Given the description of an element on the screen output the (x, y) to click on. 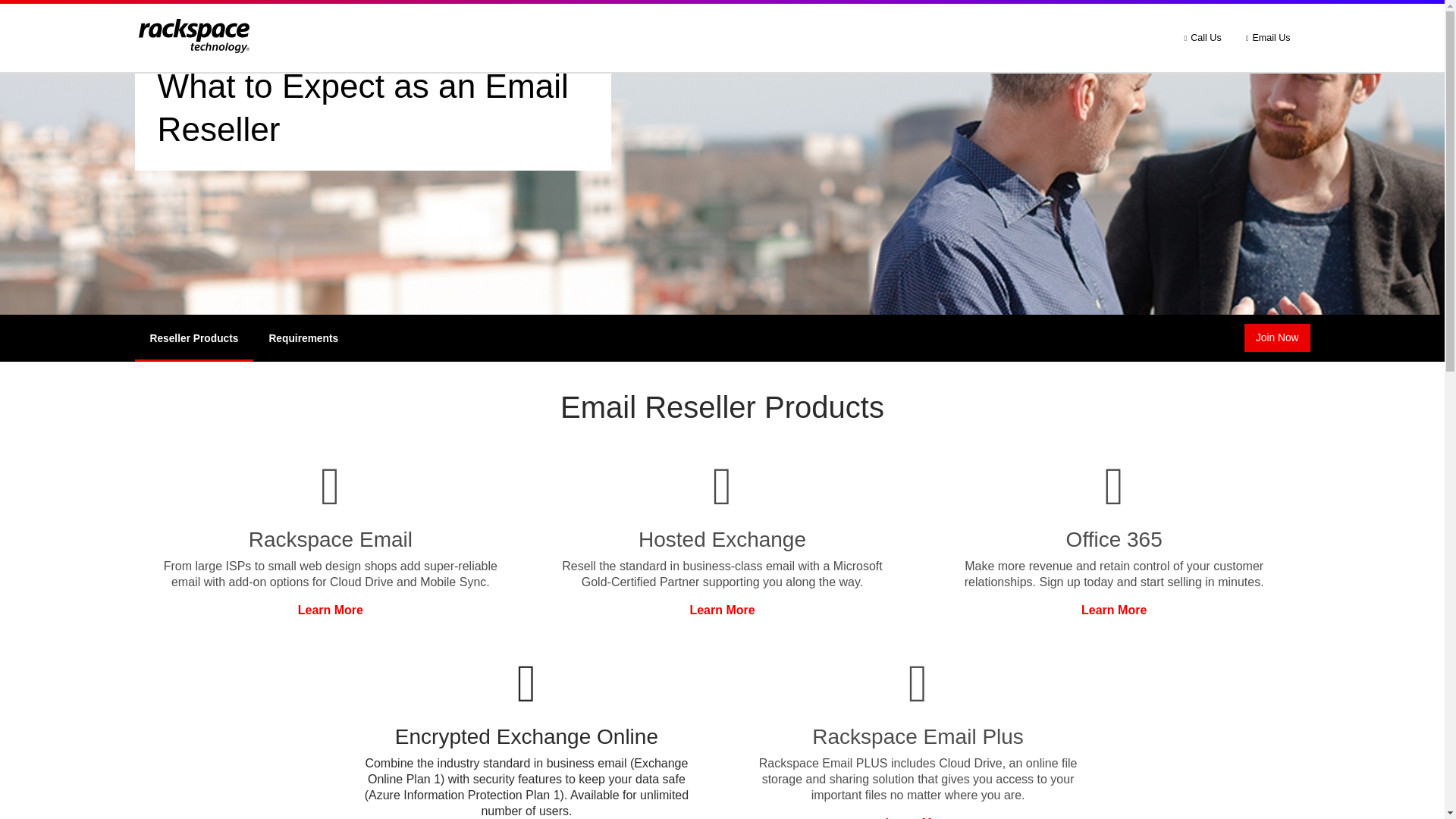
Rackspace Technology: Multicloud Solution Experts (201, 35)
Join Now (1277, 337)
Email Us (1267, 38)
Reseller Products (194, 338)
Requirements (303, 338)
Email Us (1267, 38)
